Given the description of an element on the screen output the (x, y) to click on. 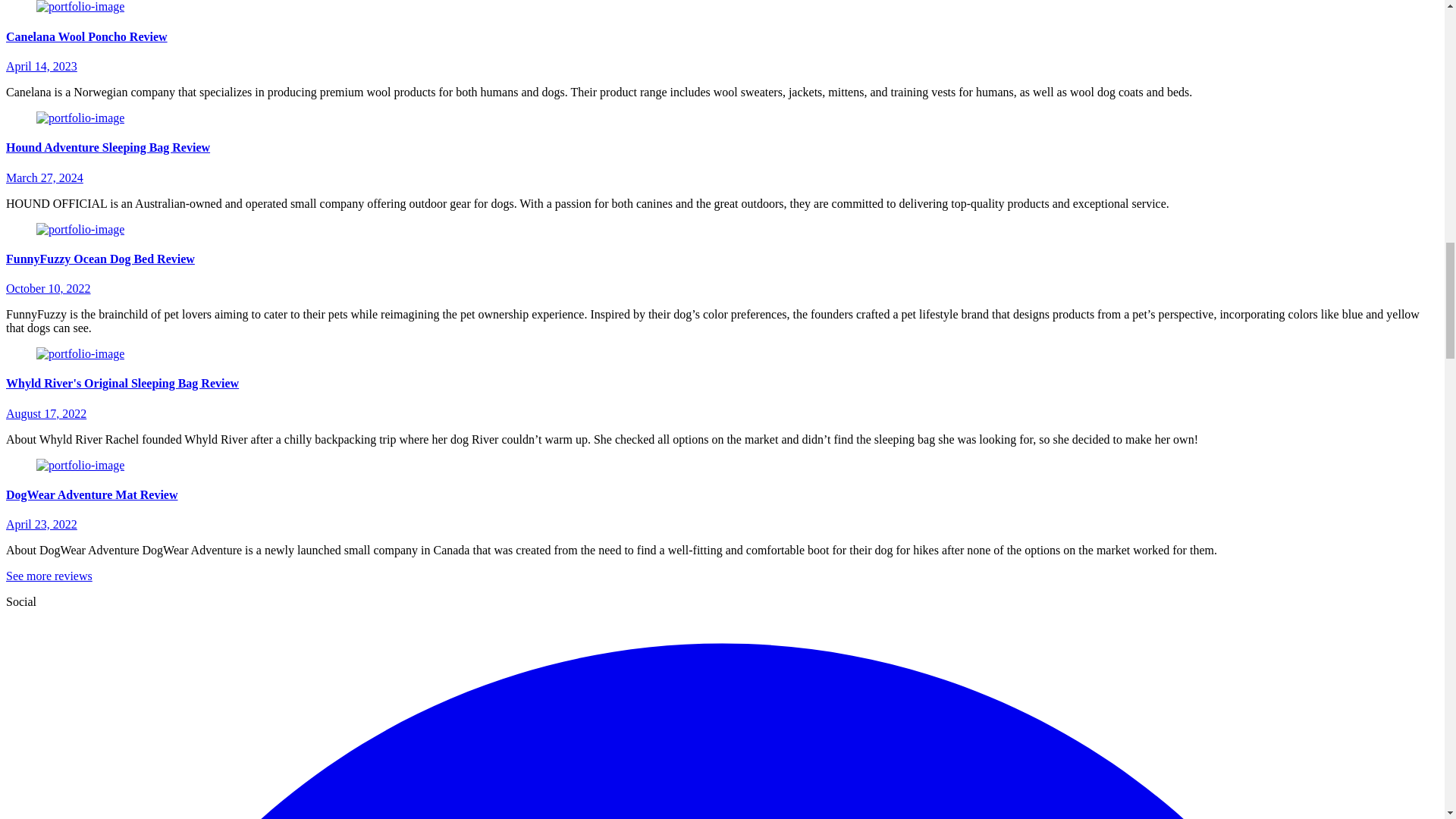
See more reviews (49, 575)
